Given the description of an element on the screen output the (x, y) to click on. 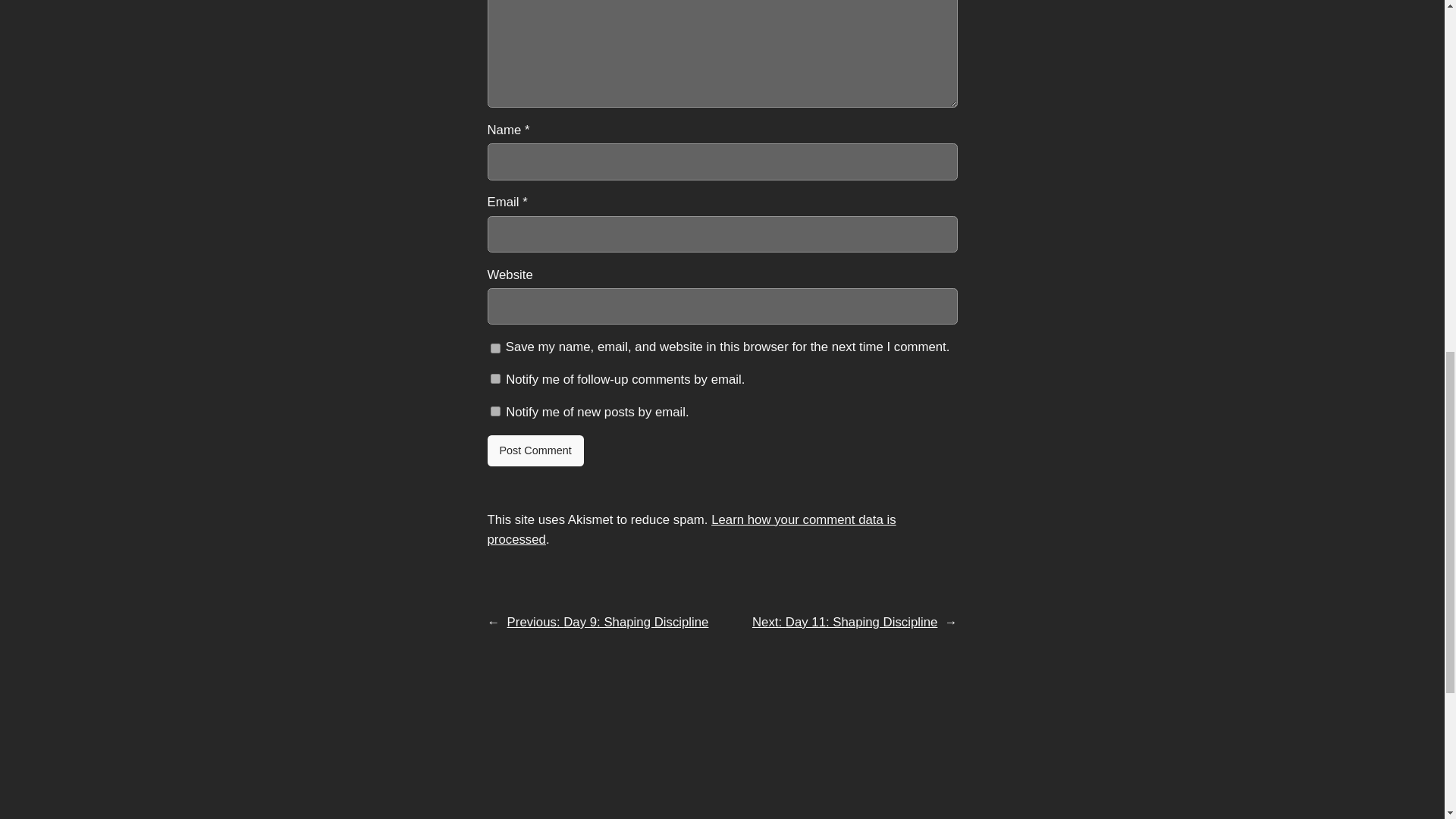
subscribe (494, 378)
Next: Day 11: Shaping Discipline (844, 622)
Post Comment (534, 450)
Previous: Day 9: Shaping Discipline (607, 622)
subscribe (494, 411)
Post Comment (534, 450)
Learn how your comment data is processed (690, 529)
